Given the description of an element on the screen output the (x, y) to click on. 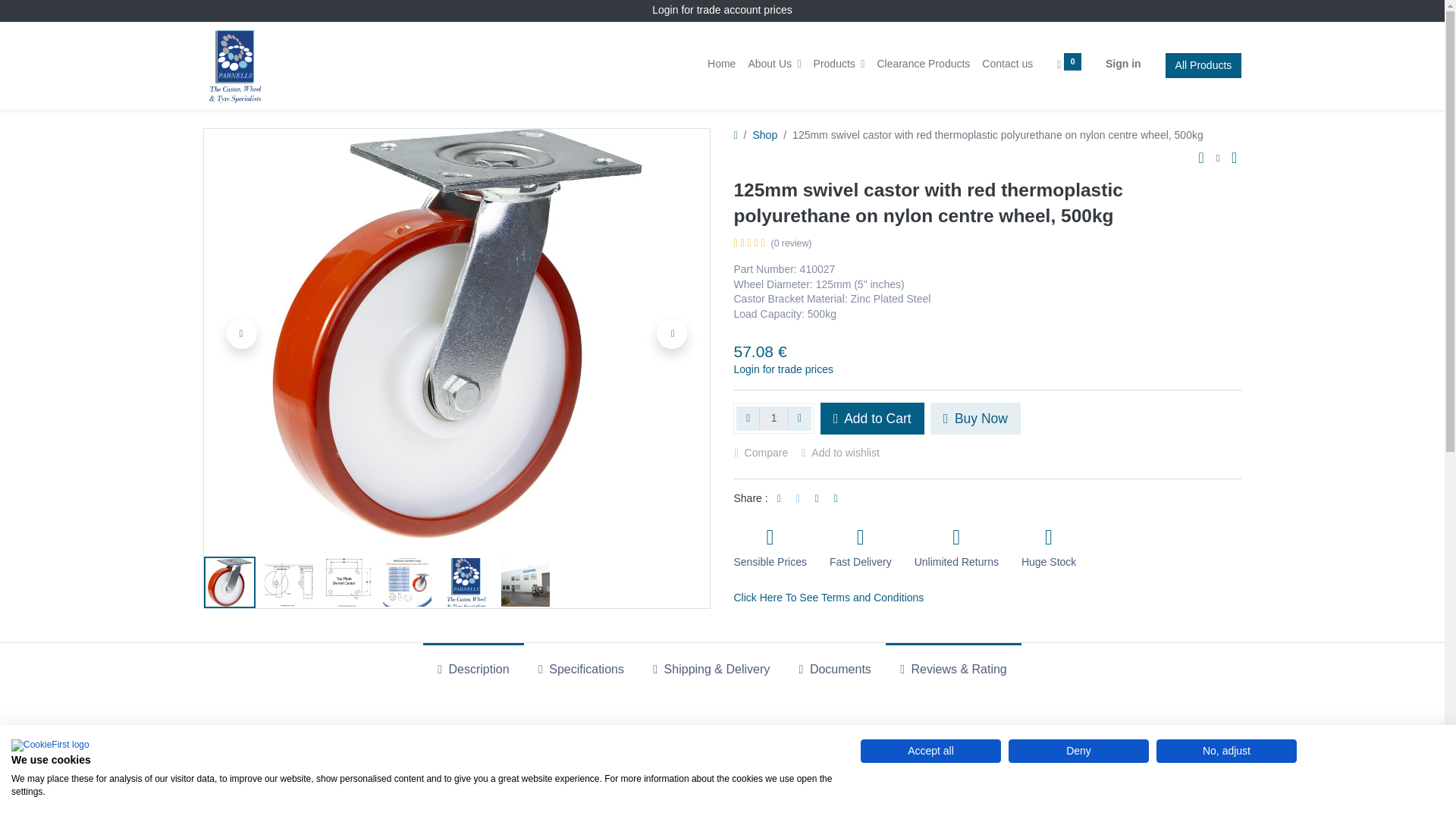
Login (665, 9)
1 (773, 418)
Add to wishlist (846, 453)
Add one (798, 418)
Previous (242, 333)
About Us (773, 63)
Next (671, 333)
Remove one (748, 418)
Products (839, 63)
Home (721, 63)
